Given the description of an element on the screen output the (x, y) to click on. 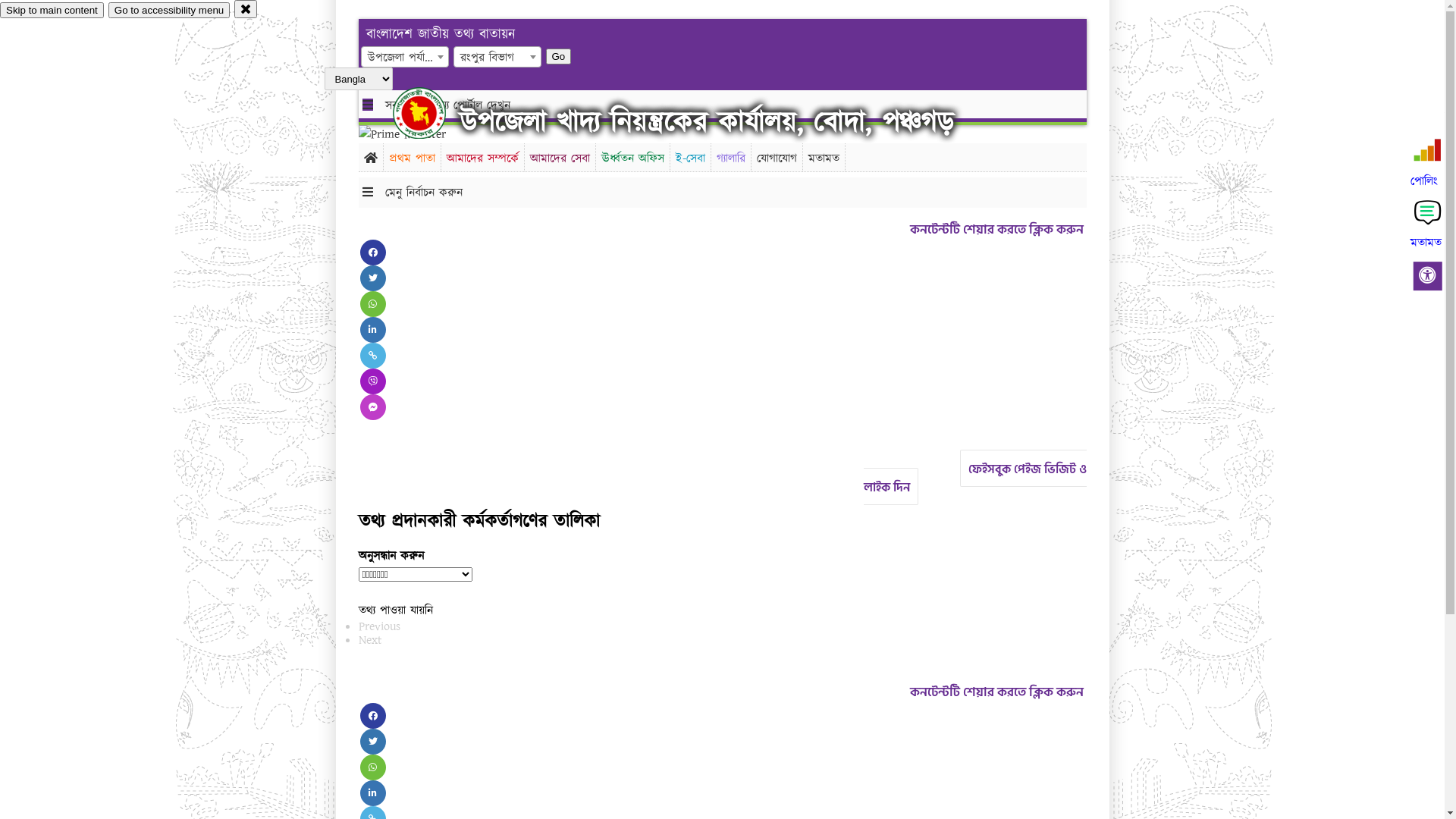
Go Element type: text (558, 56)
close Element type: hover (245, 9)

                
             Element type: hover (431, 112)
Go to accessibility menu Element type: text (168, 10)
Skip to main content Element type: text (51, 10)
